Given the description of an element on the screen output the (x, y) to click on. 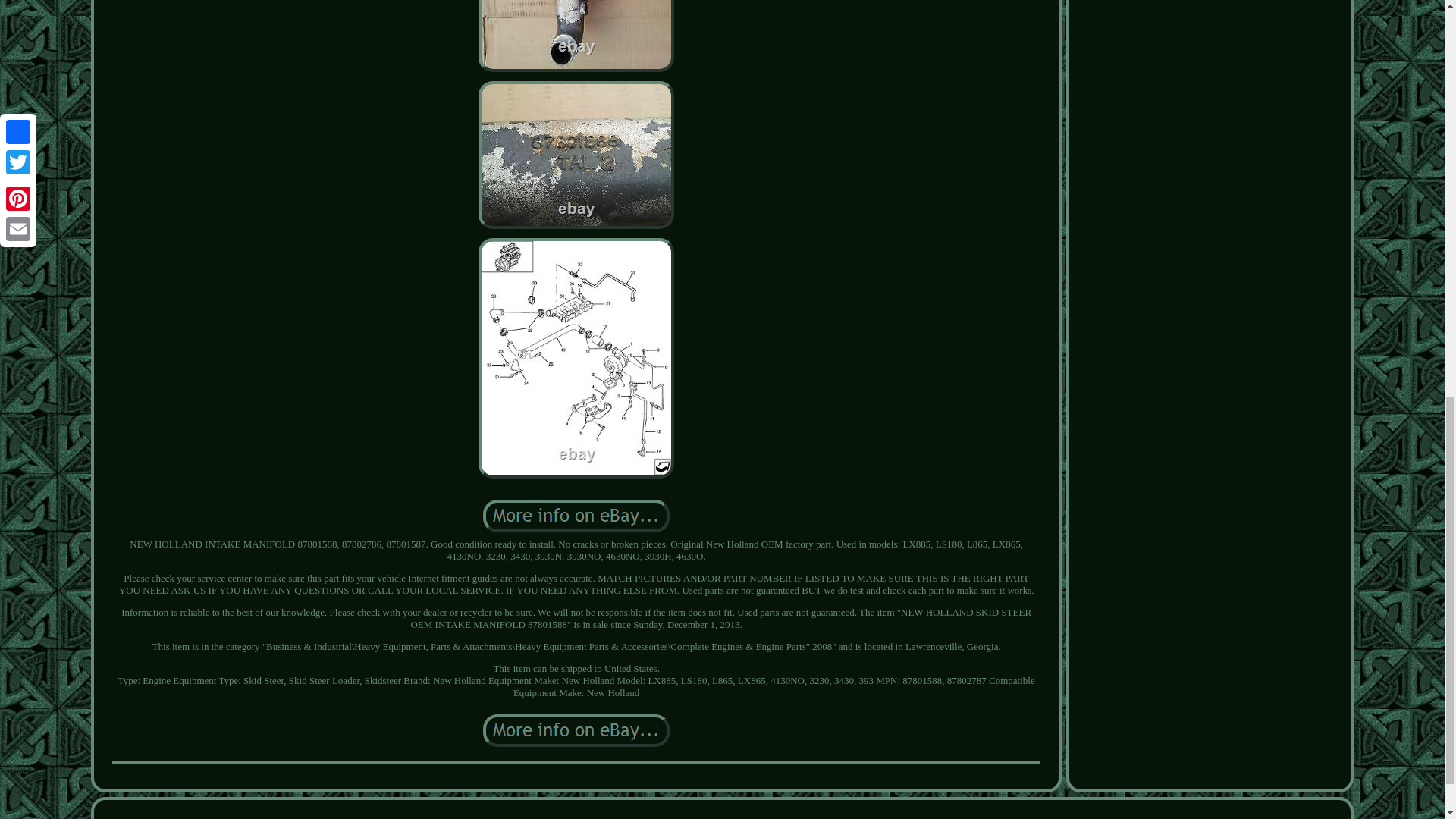
New Holland Skid Steer Oem Intake Manifold 87801588 (576, 515)
New Holland Skid Steer Oem Intake Manifold 87801588 (576, 730)
New Holland Skid Steer Oem Intake Manifold 87801588 (576, 155)
New Holland Skid Steer Oem Intake Manifold 87801588 (576, 36)
